Given the description of an element on the screen output the (x, y) to click on. 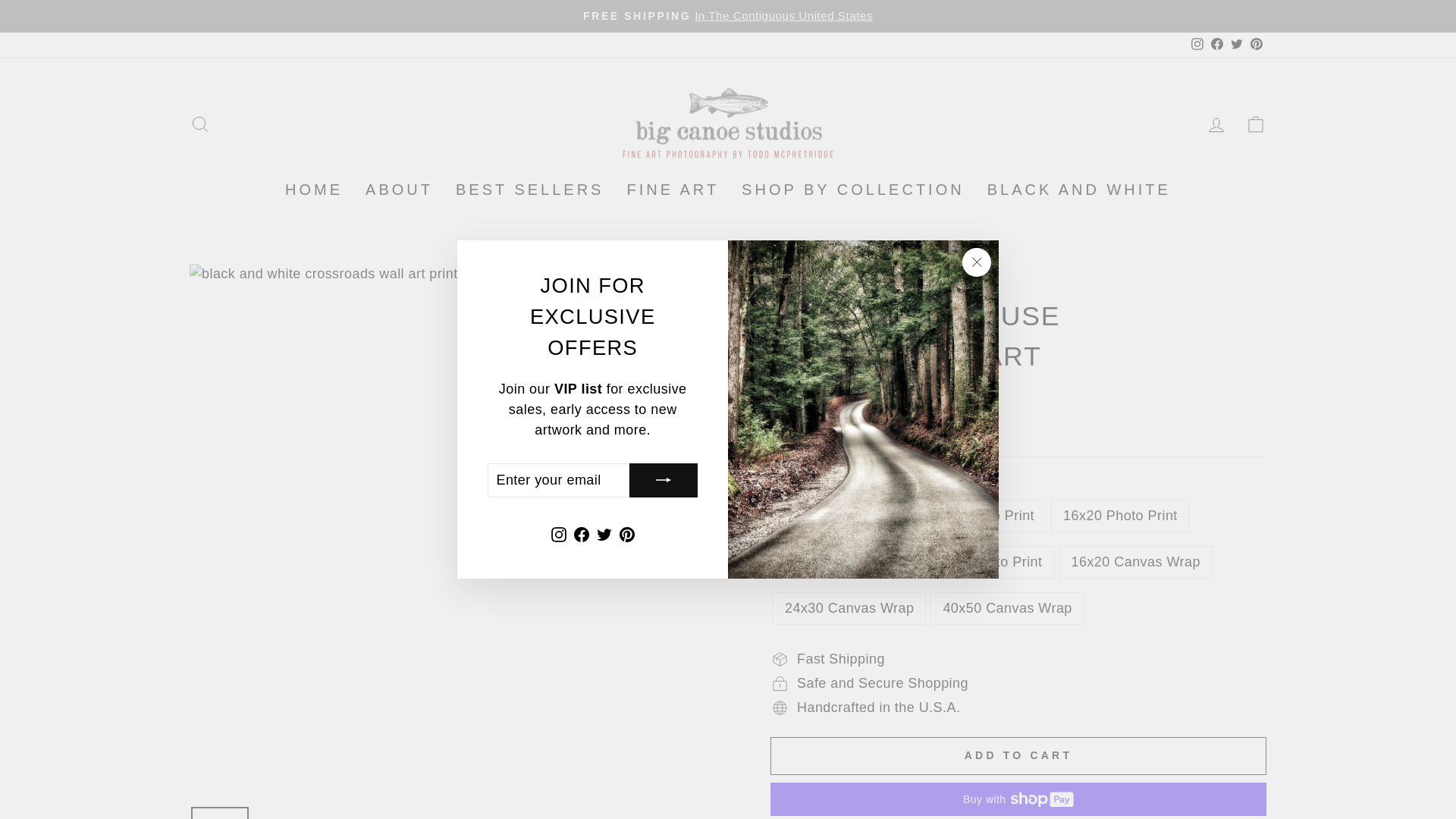
CART (1255, 123)
Back to the frontpage (786, 278)
SEARCH (199, 123)
Big Canoe Studios on Pinterest (627, 533)
HOME (313, 189)
Facebook (1217, 44)
Big Canoe Studios on Twitter (603, 533)
Big Canoe Studios on Pinterest (1256, 44)
Big Canoe Studios on Instagram (558, 533)
Big Canoe Studios on Twitter (1236, 44)
Big Canoe Studios on Facebook (581, 533)
